Given the description of an element on the screen output the (x, y) to click on. 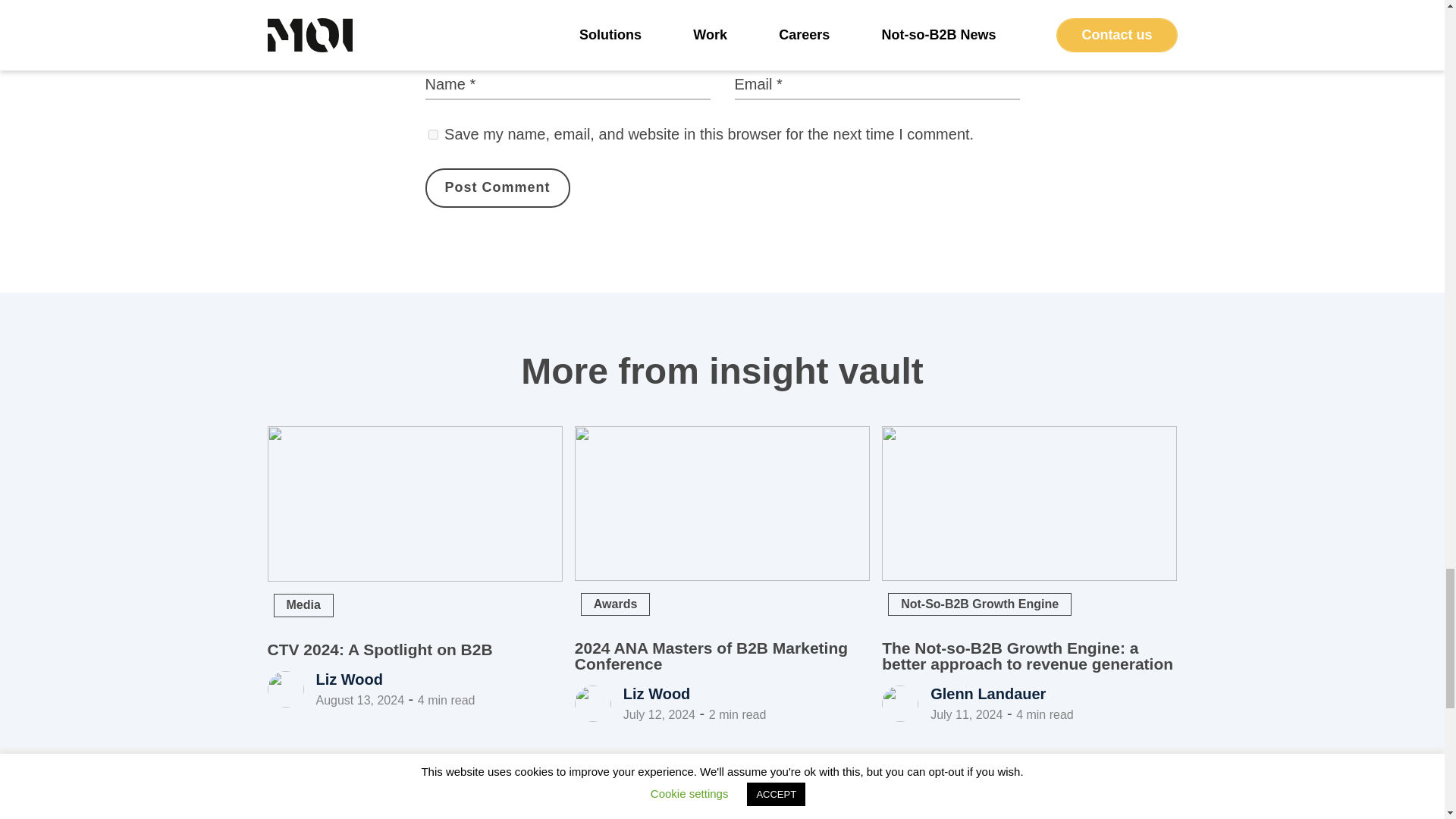
CTV  2024: A Spotlight on B2B (379, 649)
2024 ANA Masters of B2B Marketing Conference (722, 502)
Post Comment (497, 188)
2024 ANA Masters of B2B Marketing Conference (711, 655)
CTV  2024: A Spotlight on B2B (414, 503)
yes (433, 134)
